Given the description of an element on the screen output the (x, y) to click on. 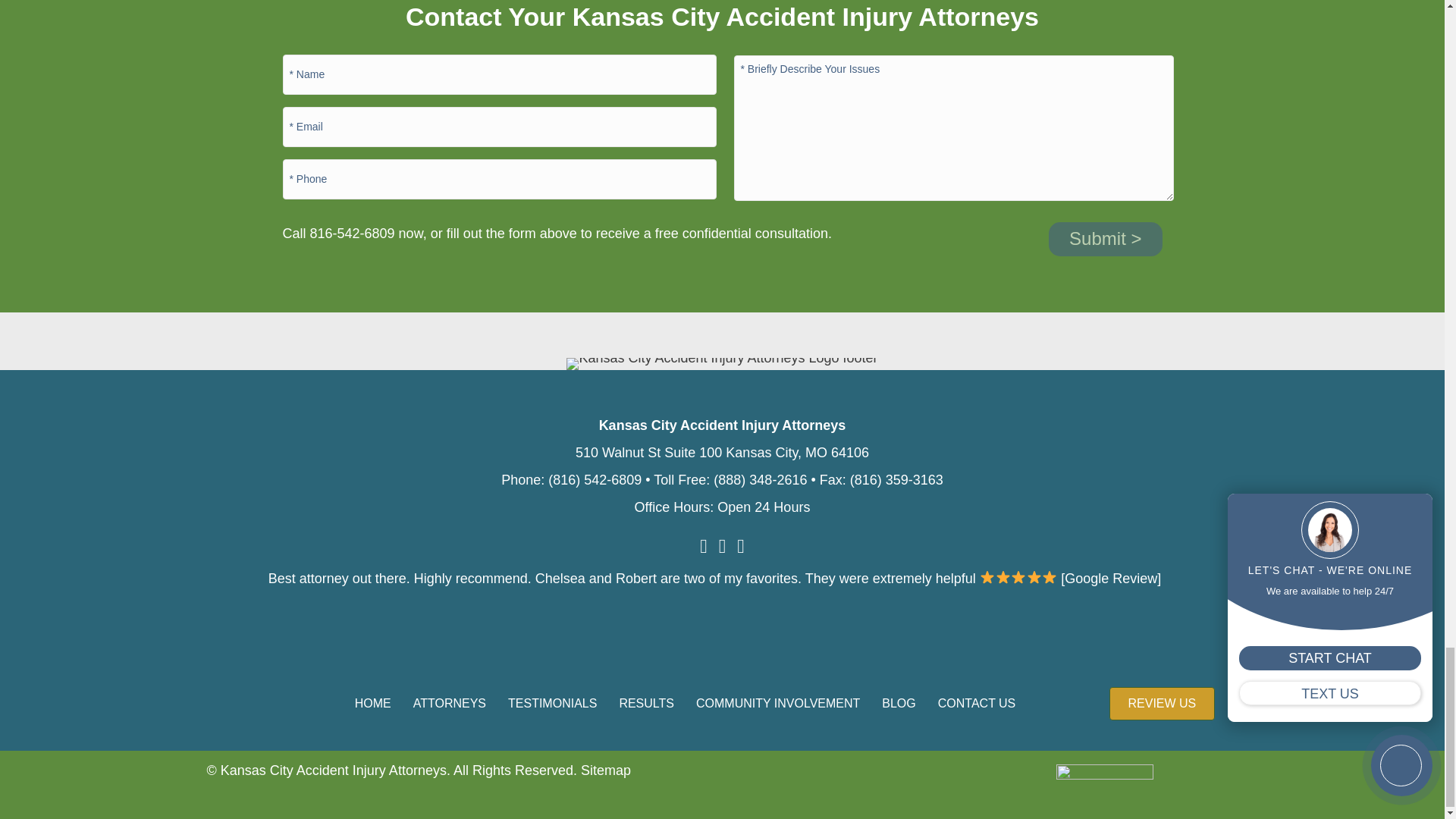
Kansas City Accident Injury Attorneys Logo footer (721, 363)
